Given the description of an element on the screen output the (x, y) to click on. 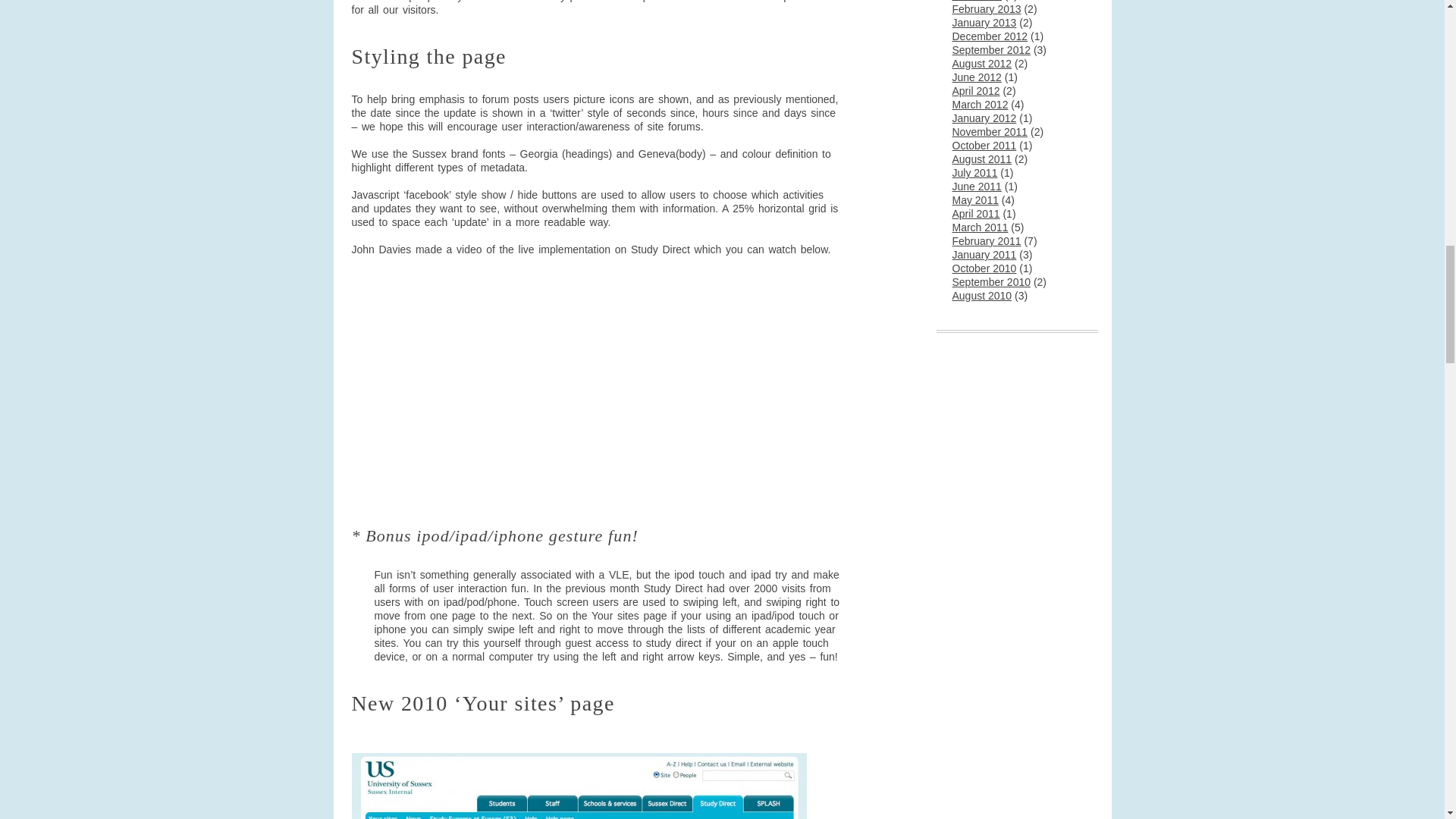
Your sites page (579, 785)
Study Direct: 'Your sites' (541, 388)
